Given the description of an element on the screen output the (x, y) to click on. 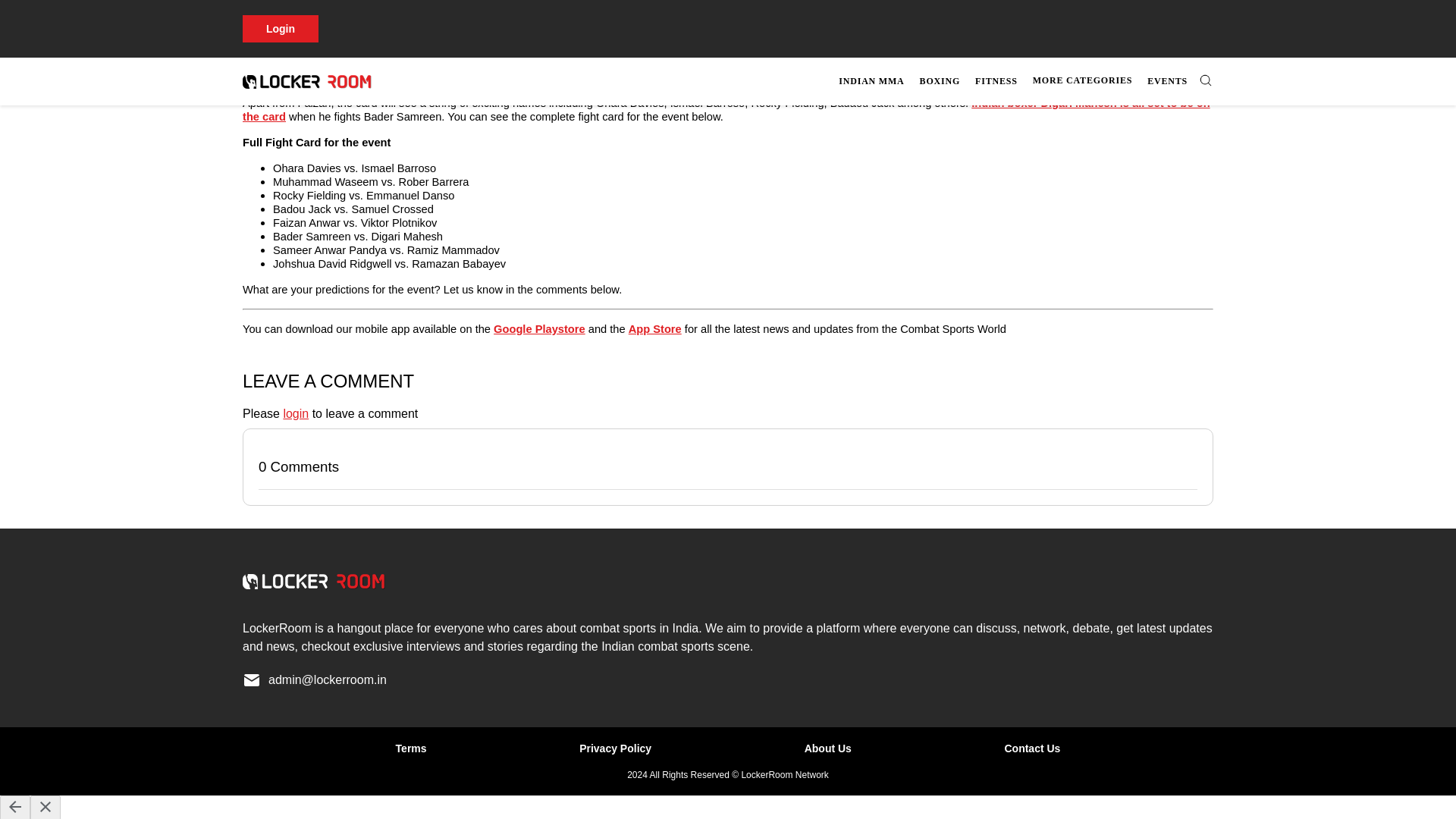
App Store (654, 328)
Indian boxer Digari Mahesh is all set to be on the card (726, 109)
Google Playstore (539, 328)
